Given the description of an element on the screen output the (x, y) to click on. 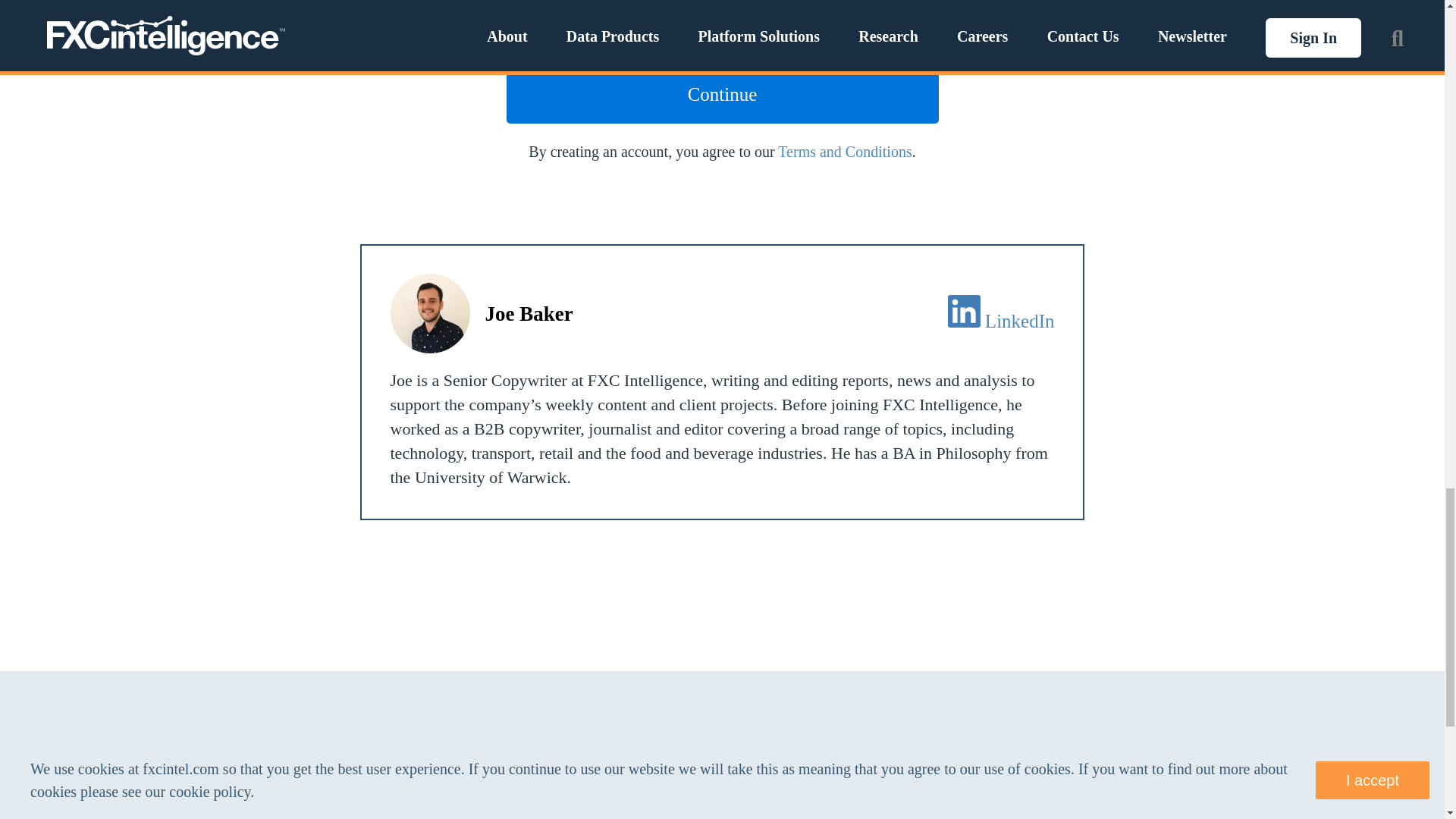
Terms and Conditions (844, 151)
Continue (722, 94)
Contact Us (654, 778)
Joe Baker (528, 313)
Continue (722, 94)
LinkedIn (1019, 321)
LinkedIn (963, 310)
